Given the description of an element on the screen output the (x, y) to click on. 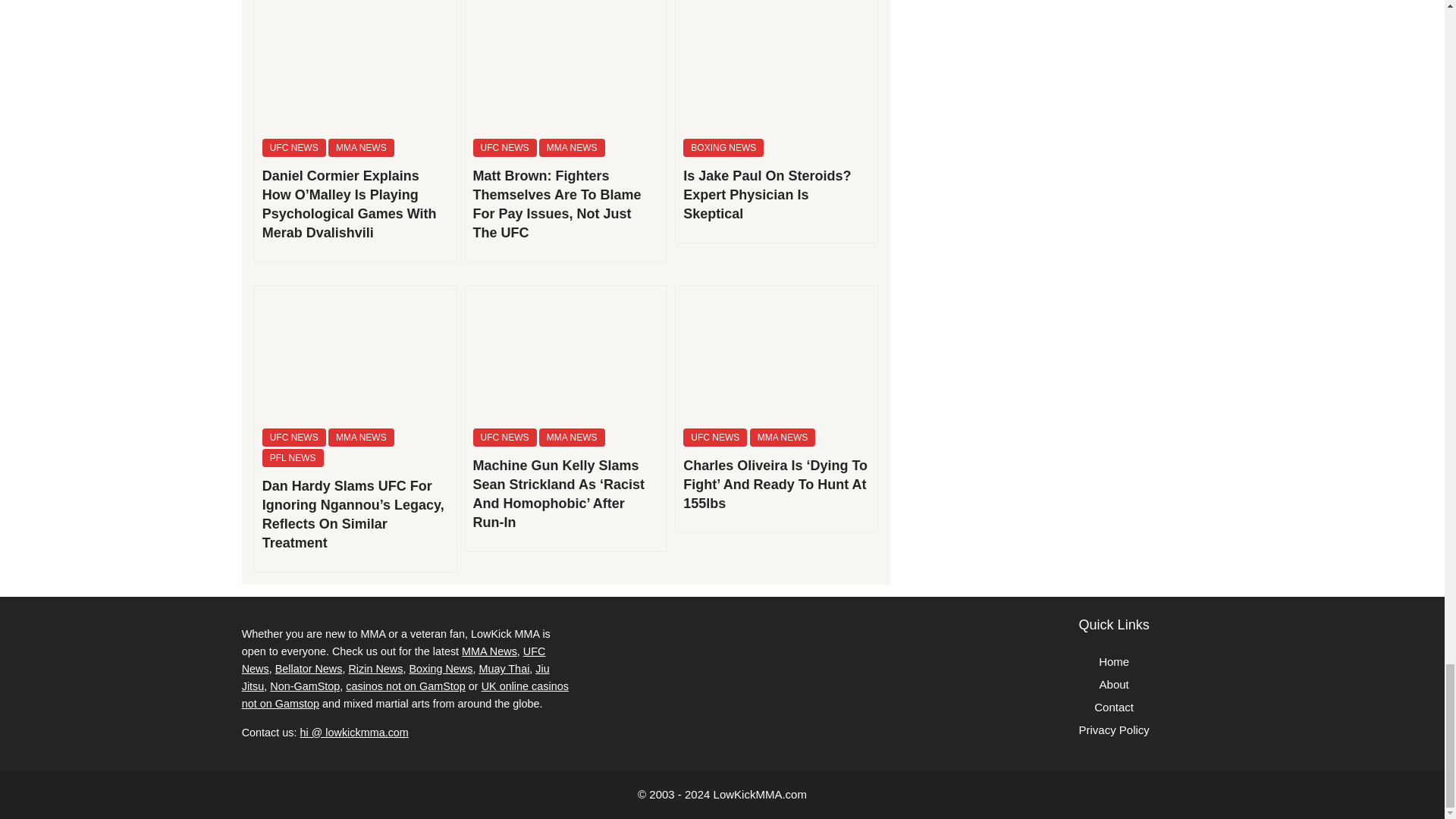
Is Jake Paul on Steroids? Expert Physician is Skeptical 4 (776, 65)
